Given the description of an element on the screen output the (x, y) to click on. 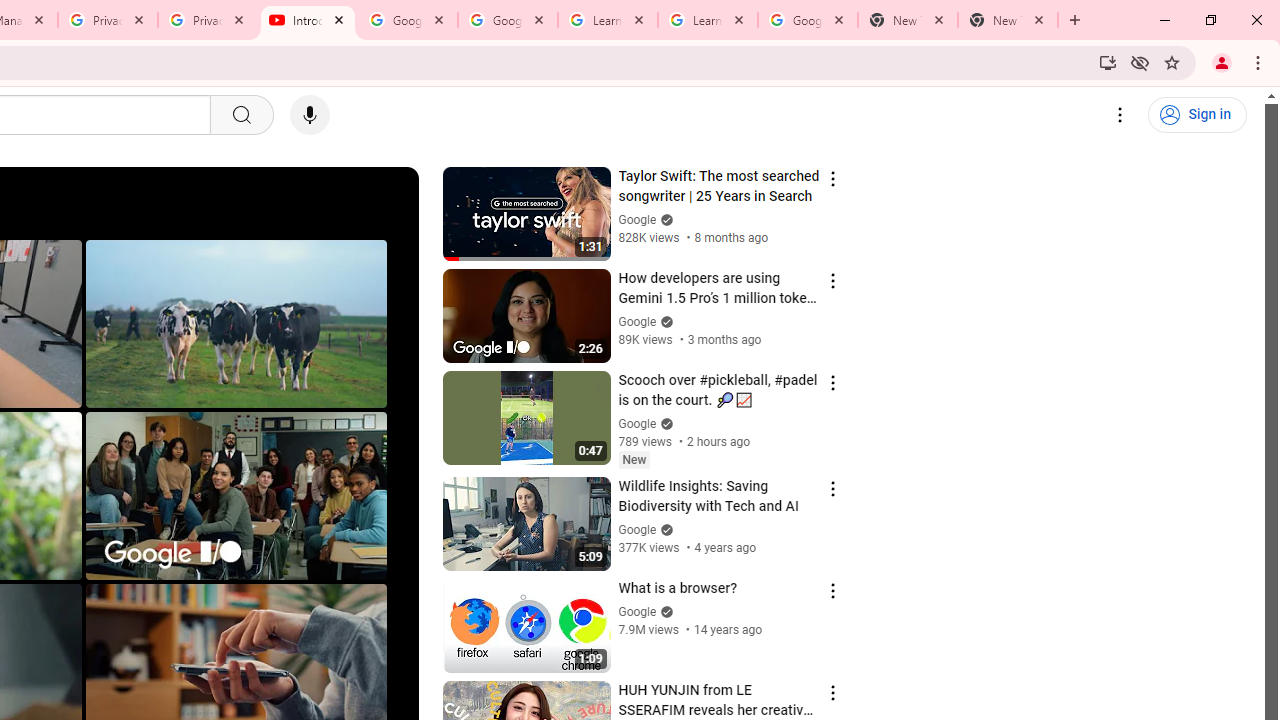
Search (240, 115)
